Given the description of an element on the screen output the (x, y) to click on. 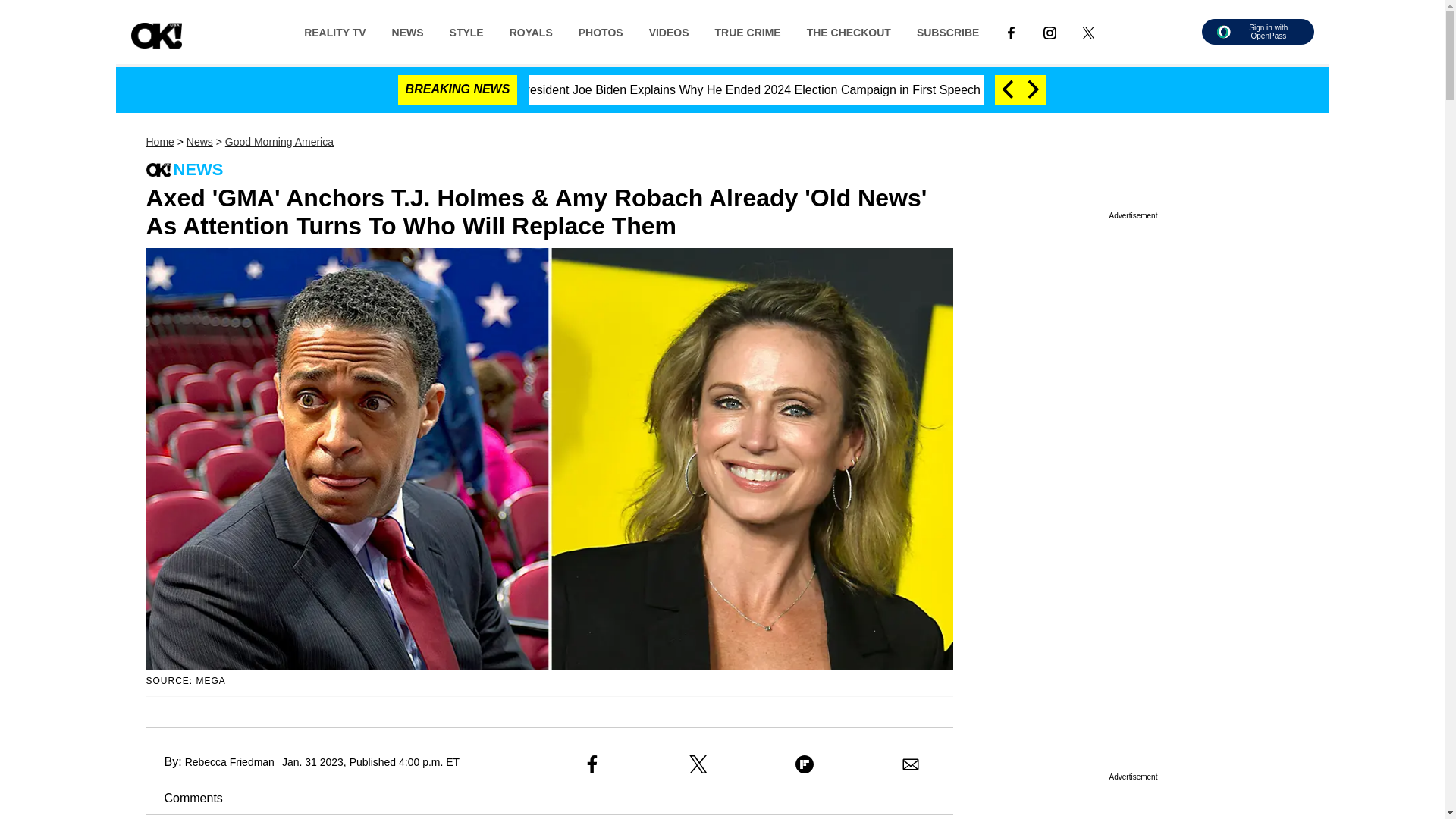
Share to X (697, 764)
Comments (183, 797)
Share to Flipboard (803, 764)
THE CHECKOUT (848, 31)
Link to X (1088, 31)
News (199, 141)
REALITY TV (334, 31)
VIDEOS (668, 31)
LINK TO X (1087, 32)
Share to Email (909, 764)
LINK TO FACEBOOK (1010, 32)
Home (159, 141)
LINK TO INSTAGRAM (1049, 31)
Rebecca Friedman (229, 761)
SUBSCRIBE (947, 31)
